Given the description of an element on the screen output the (x, y) to click on. 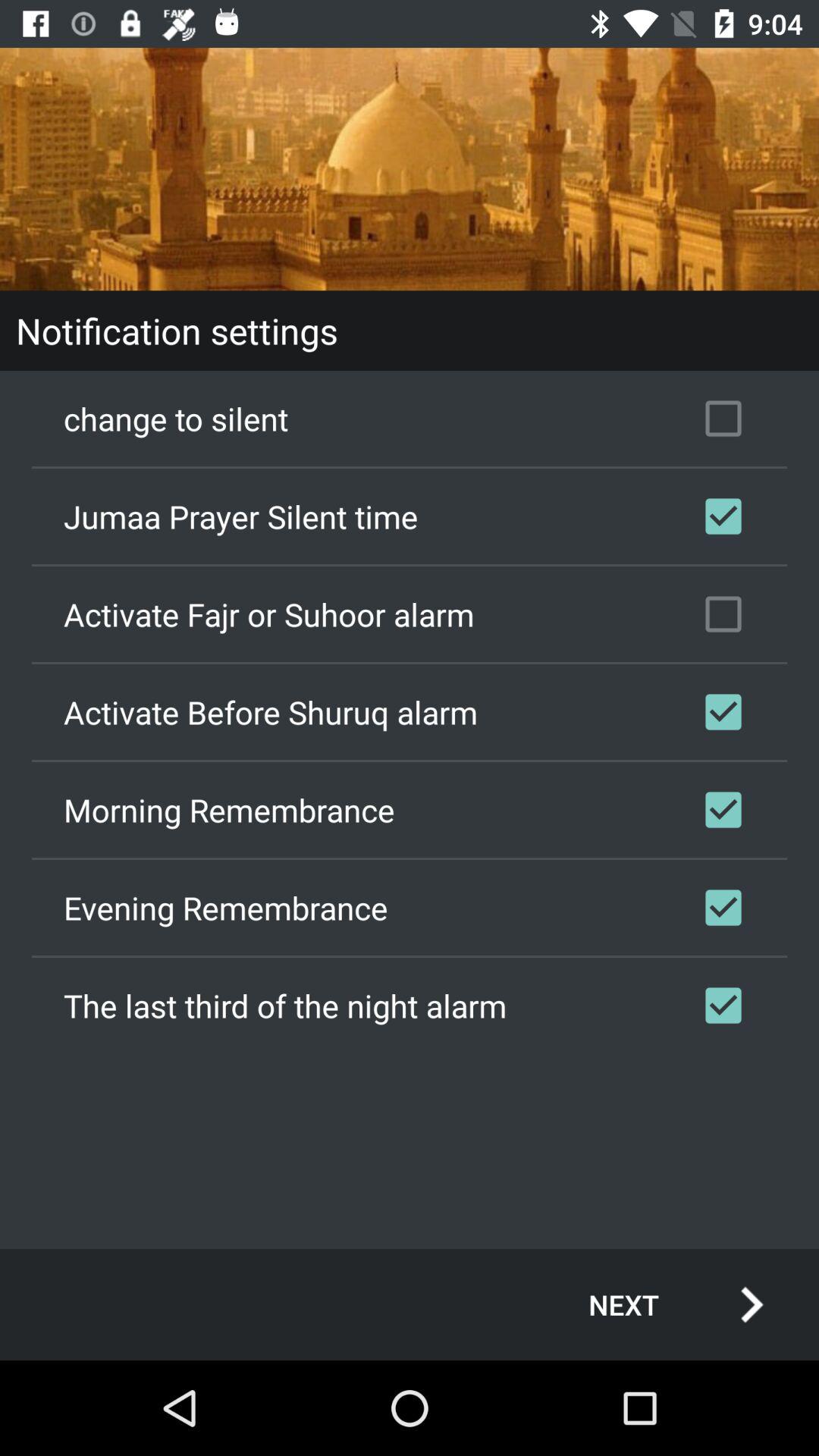
launch jumaa prayer silent checkbox (409, 516)
